Given the description of an element on the screen output the (x, y) to click on. 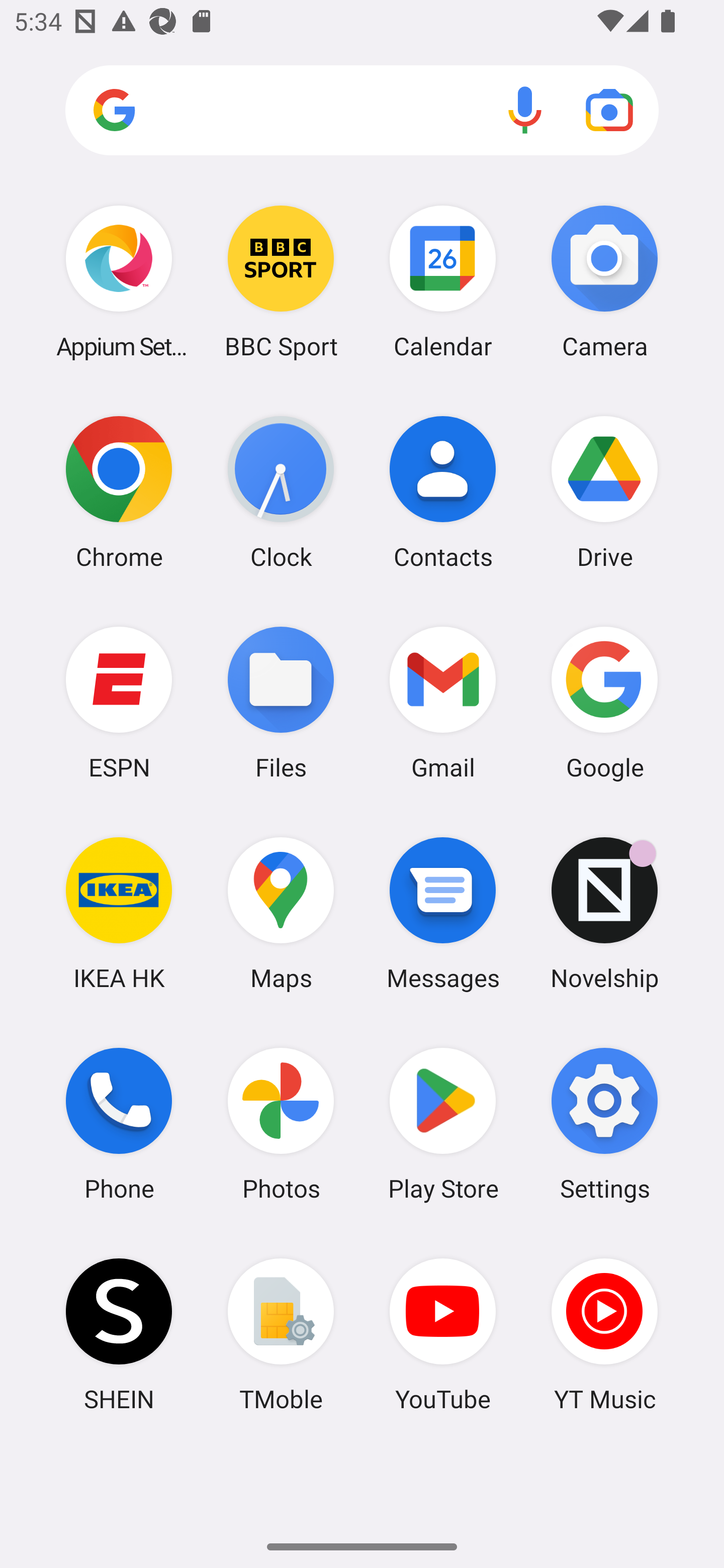
Search apps, web and more (361, 110)
Voice search (524, 109)
Google Lens (608, 109)
Appium Settings (118, 281)
BBC Sport (280, 281)
Calendar (443, 281)
Camera (604, 281)
Chrome (118, 492)
Clock (280, 492)
Contacts (443, 492)
Drive (604, 492)
ESPN (118, 702)
Files (280, 702)
Gmail (443, 702)
Google (604, 702)
IKEA HK (118, 913)
Maps (280, 913)
Messages (443, 913)
Novelship Novelship has 1 notification (604, 913)
Phone (118, 1124)
Photos (280, 1124)
Play Store (443, 1124)
Settings (604, 1124)
SHEIN (118, 1334)
TMoble (280, 1334)
YouTube (443, 1334)
YT Music (604, 1334)
